Given the description of an element on the screen output the (x, y) to click on. 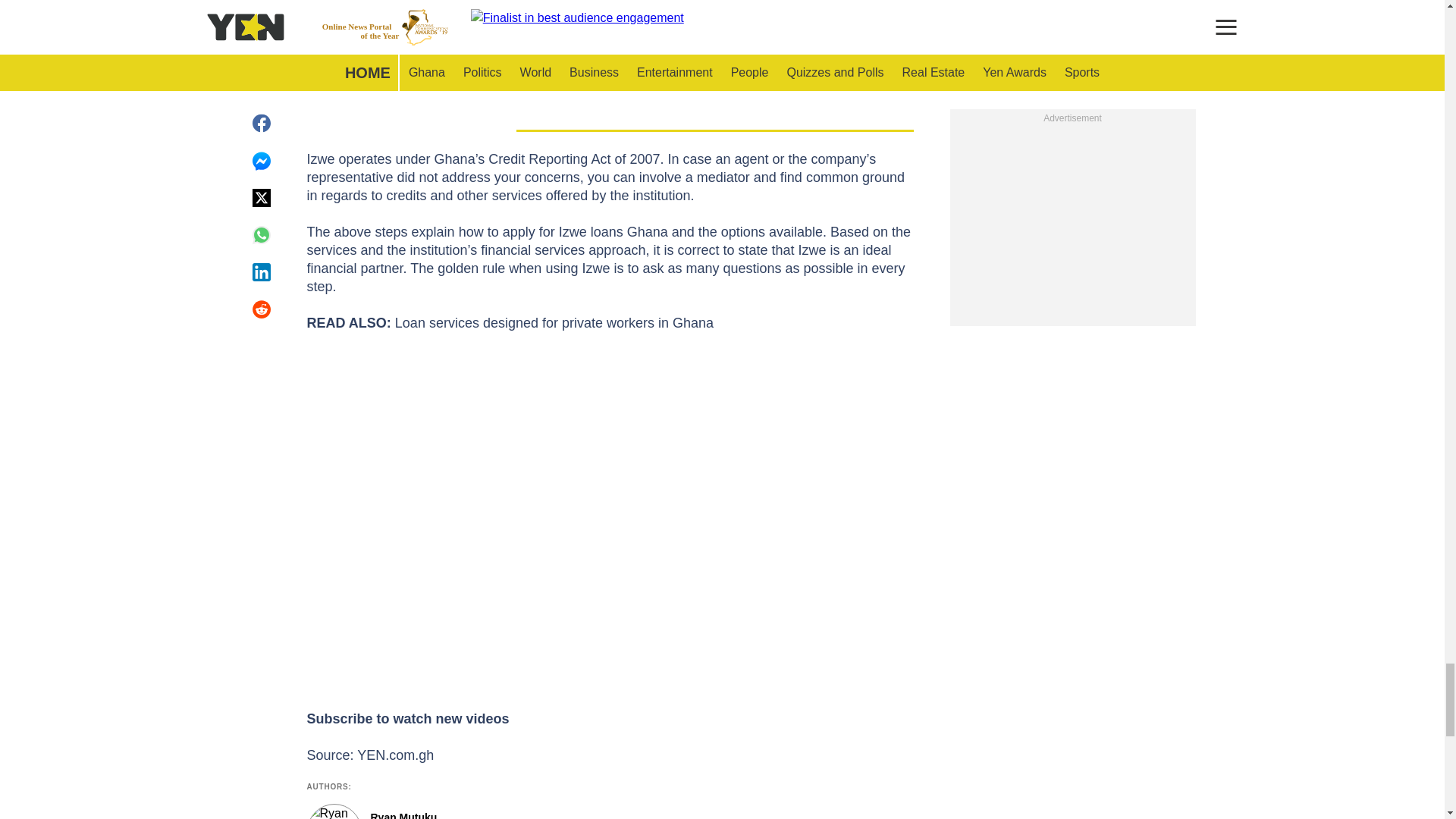
Author page (533, 811)
